Given the description of an element on the screen output the (x, y) to click on. 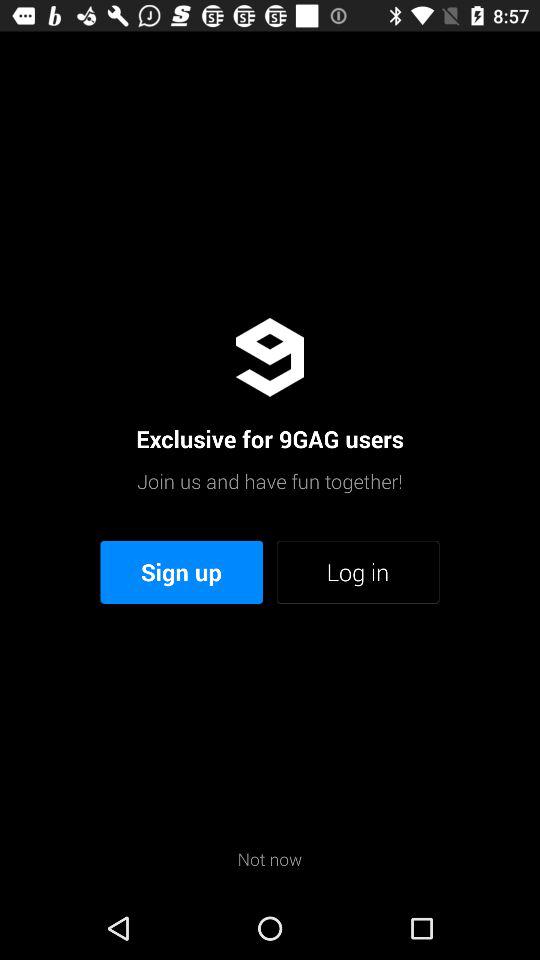
open the log in item (357, 571)
